Given the description of an element on the screen output the (x, y) to click on. 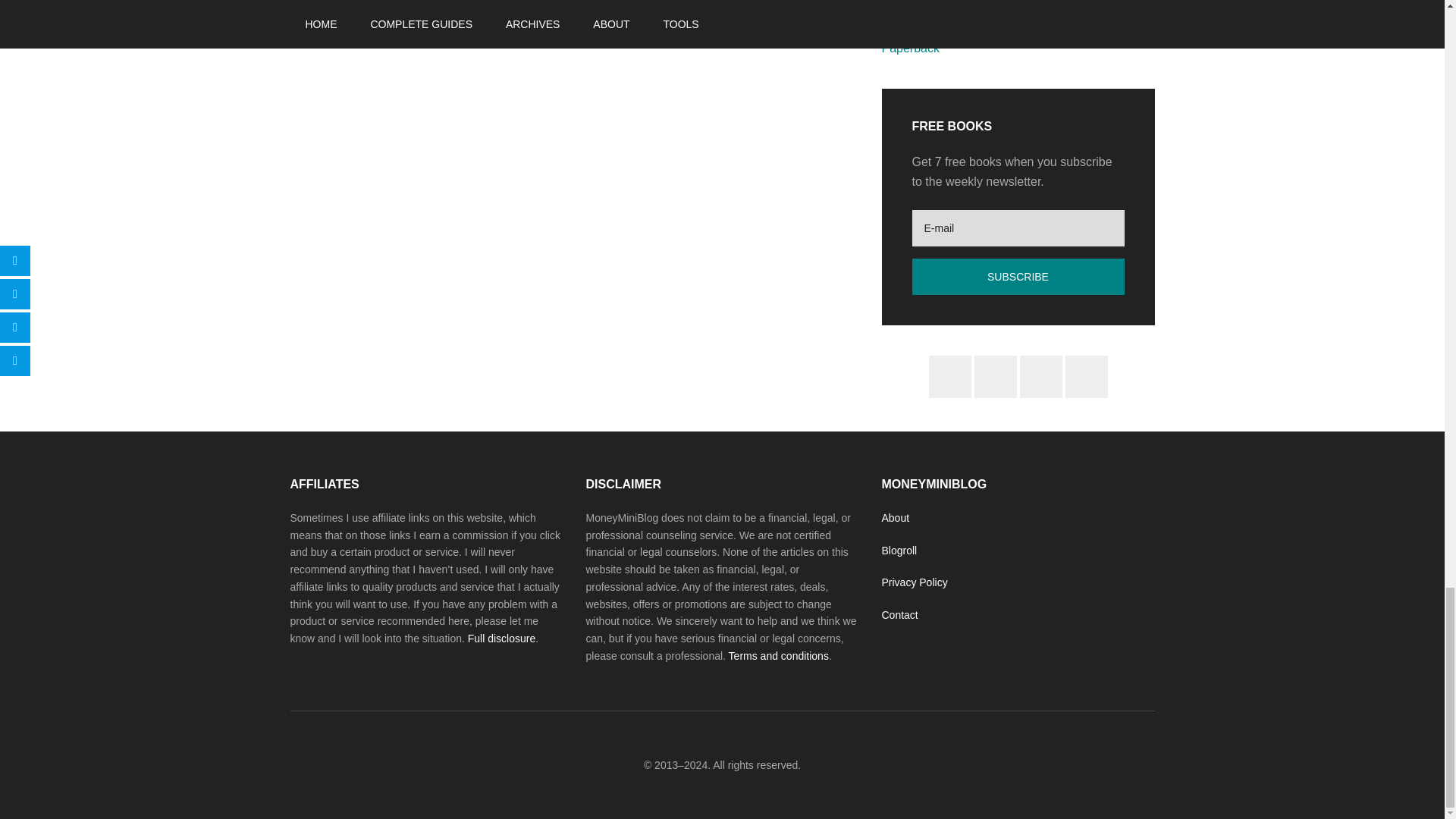
Subscribe (1017, 276)
